Given the description of an element on the screen output the (x, y) to click on. 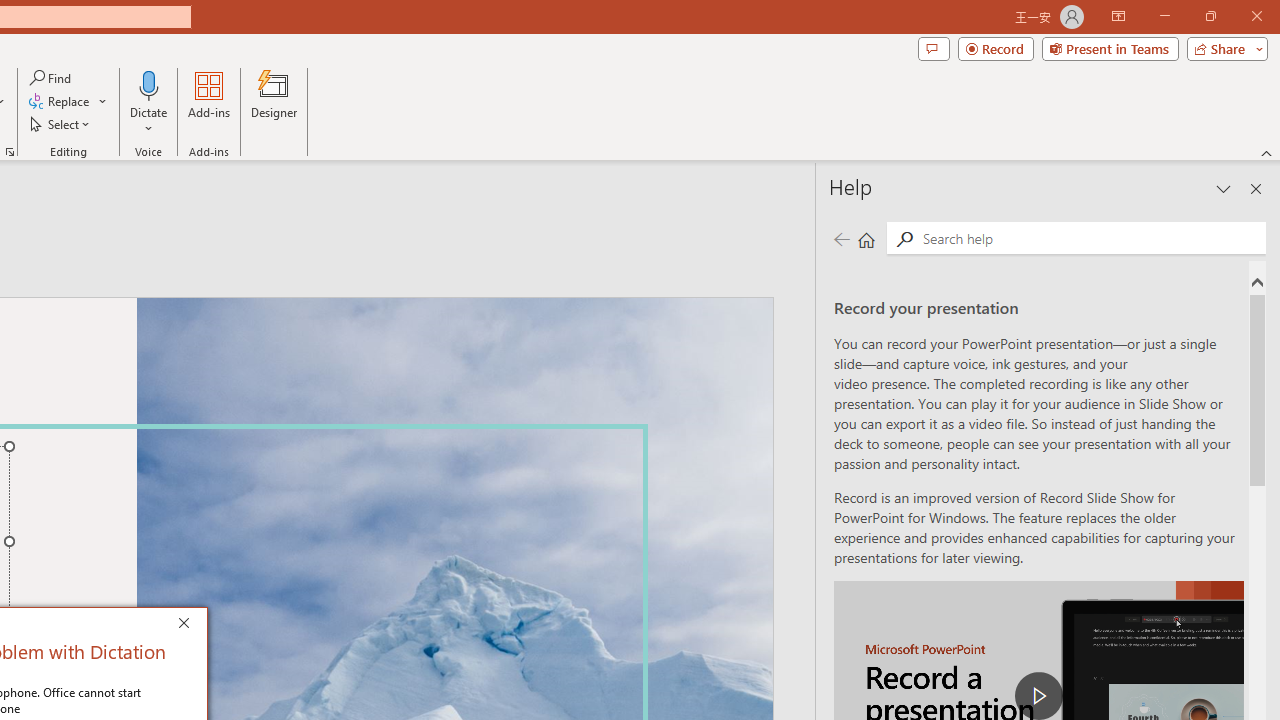
Find... (51, 78)
Select (61, 124)
play Record a Presentation (1038, 695)
Task Pane Options (1224, 188)
Previous page (841, 238)
Dictate (149, 84)
Designer (274, 102)
Replace... (68, 101)
Format Object... (9, 151)
